Given the description of an element on the screen output the (x, y) to click on. 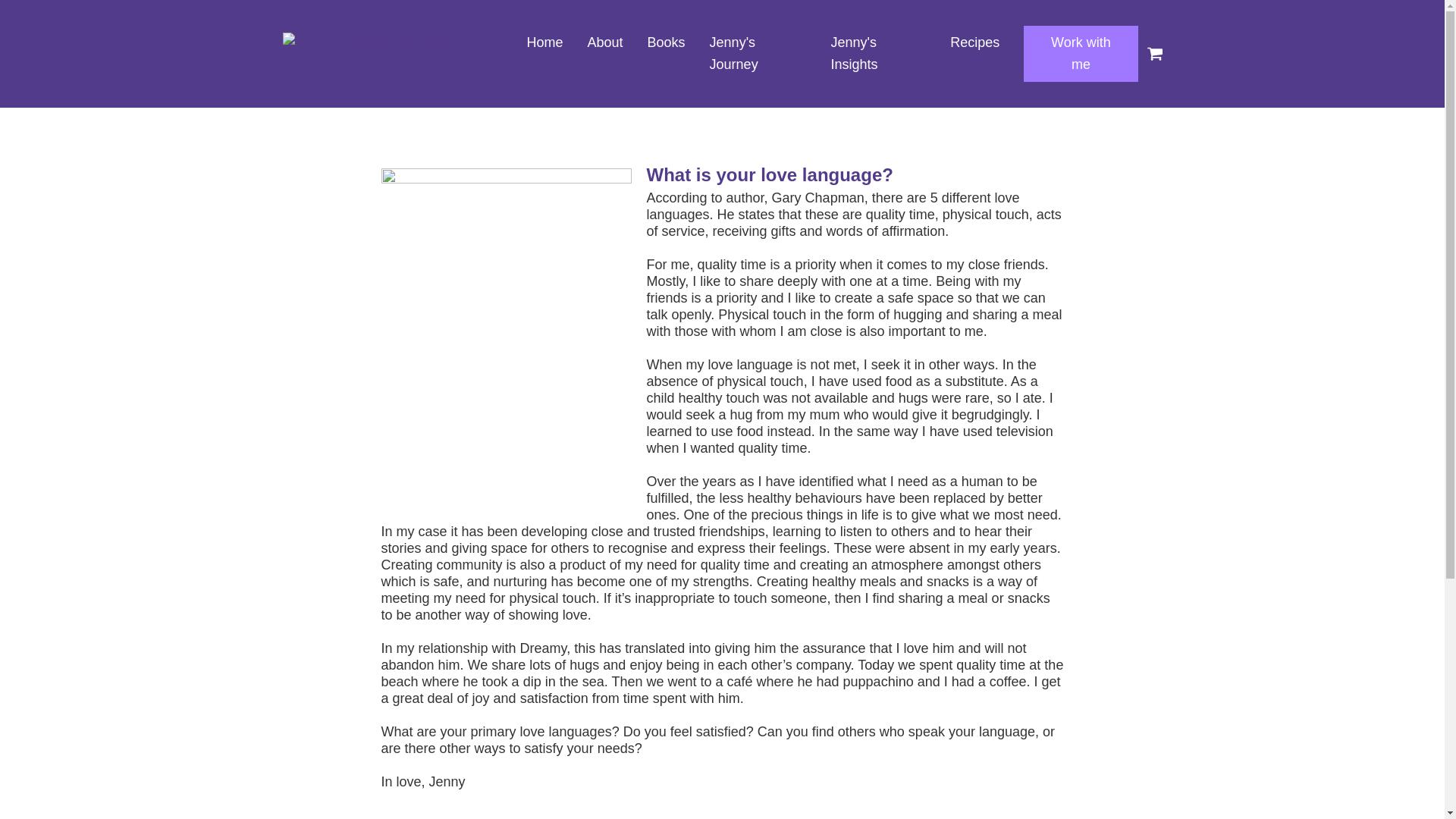
Jenny's Journey (757, 53)
Work with me (1080, 53)
Recipes (974, 42)
Books (665, 42)
Jenny's Insights (877, 53)
Home (544, 42)
About (604, 42)
